Given the description of an element on the screen output the (x, y) to click on. 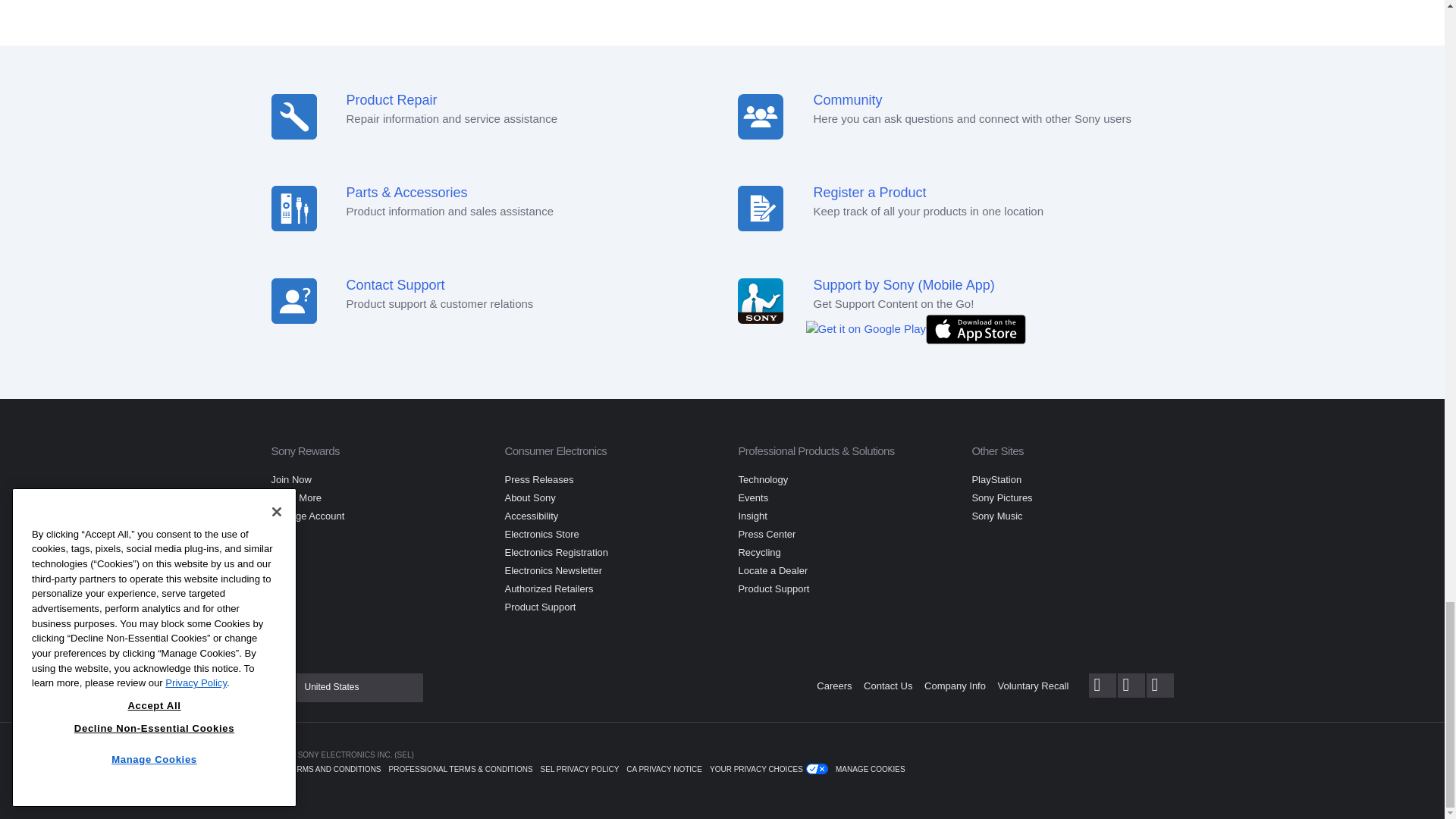
Join Now (290, 479)
About Sony (528, 497)
Manage Account (307, 515)
Electronics Registration (555, 552)
Join Now (290, 479)
Learn More (295, 497)
Accessibility (530, 515)
Press Releases (538, 479)
Electronics Newsletter (552, 570)
Electronics Store (540, 533)
